Given the description of an element on the screen output the (x, y) to click on. 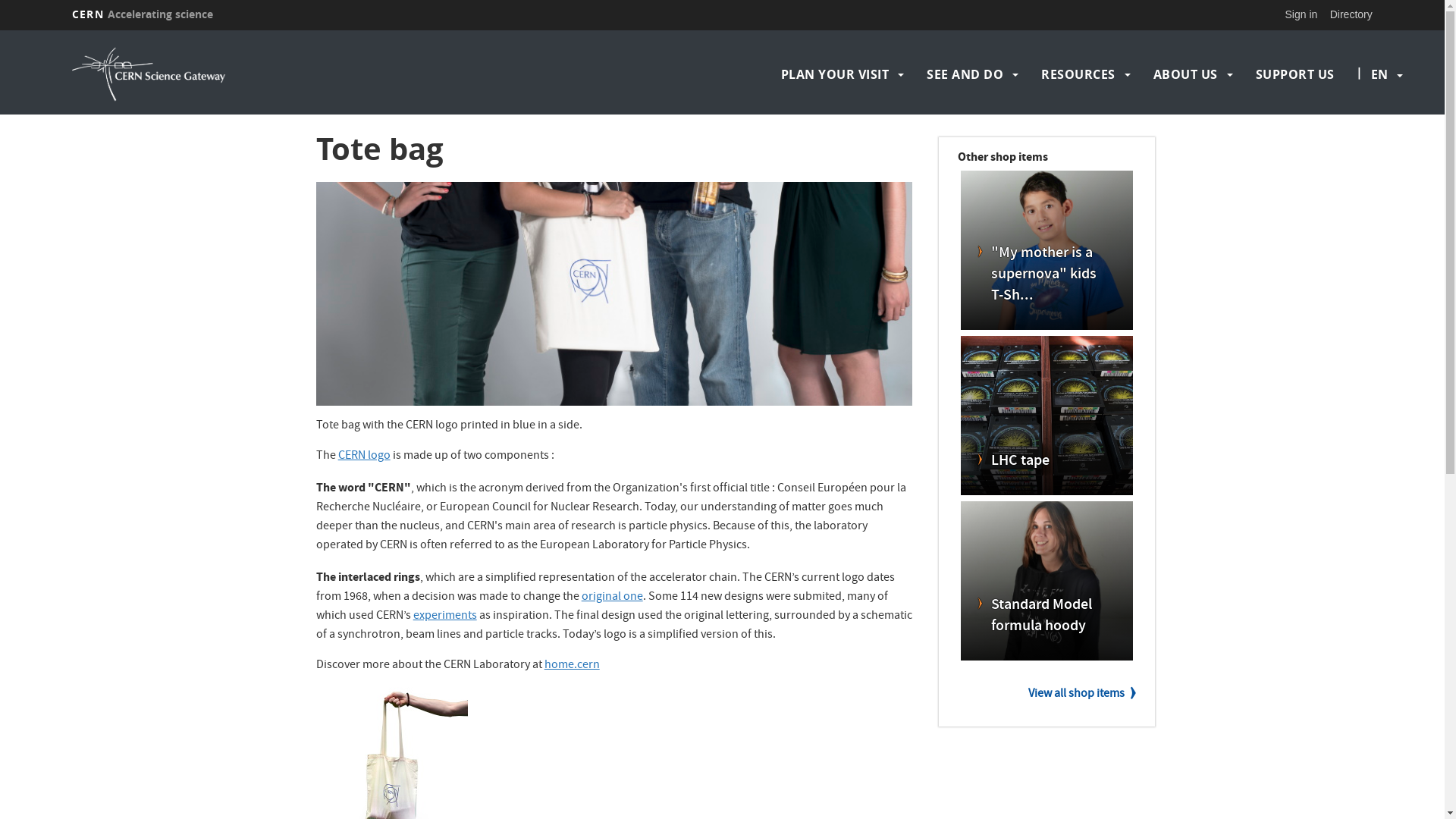
CERN Accelerating science Element type: text (142, 14)
Standard Model formula hoody Element type: text (1045, 616)
ABOUT US Element type: text (1185, 74)
Directory Element type: text (1351, 14)
Skip to main content Element type: text (0, 30)
Sign in Element type: text (1301, 14)
experiments Element type: text (444, 616)
|
EN Element type: text (1379, 73)
RESOURCES Element type: text (1078, 74)
original one Element type: text (612, 597)
SEE AND DO Element type: text (964, 74)
CERN logo Element type: text (364, 456)
LHC tape Element type: text (1045, 461)
PLAN YOUR VISIT Element type: text (835, 74)
SUPPORT US Element type: text (1294, 74)
Home Element type: hover (230, 74)
home.cern Element type: text (571, 665)
"My mother is a supernova" kids T-Sh... Element type: text (1045, 275)
View all shop items Element type: text (1081, 694)
